Given the description of an element on the screen output the (x, y) to click on. 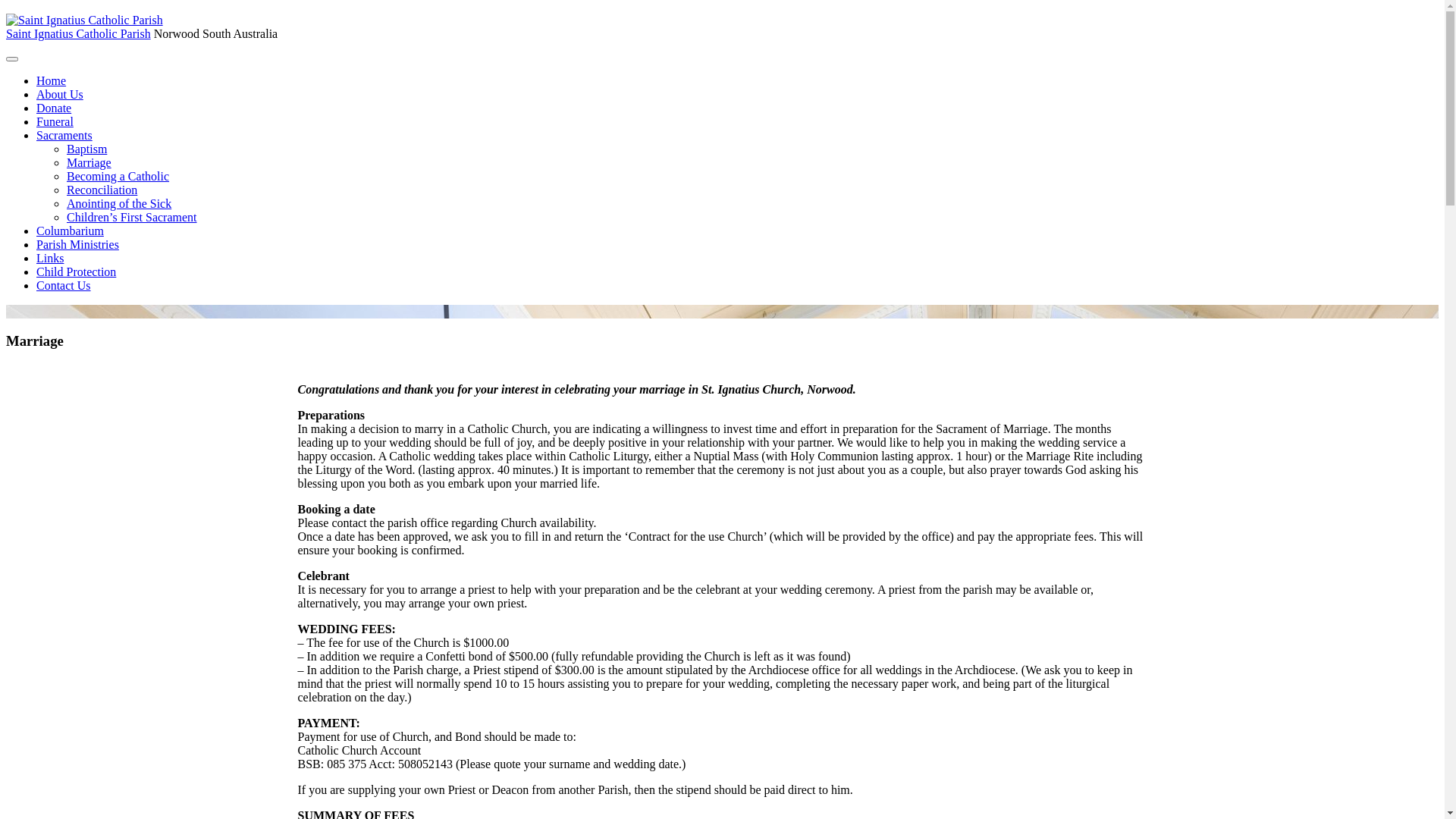
Home Element type: text (50, 80)
Anointing of the Sick Element type: text (118, 203)
Becoming a Catholic Element type: text (117, 175)
Baptism Element type: text (86, 148)
Child Protection Element type: text (76, 271)
Contact Us Element type: text (63, 285)
Funeral Element type: text (54, 121)
Saint Ignatius Catholic Parish Element type: text (78, 33)
Links Element type: text (49, 257)
About Us Element type: text (59, 93)
Sacraments Element type: text (64, 134)
Donate Element type: text (53, 107)
Parish Ministries Element type: text (77, 244)
Reconciliation Element type: text (101, 189)
Marriage Element type: text (88, 162)
Columbarium Element type: text (69, 230)
